Given the description of an element on the screen output the (x, y) to click on. 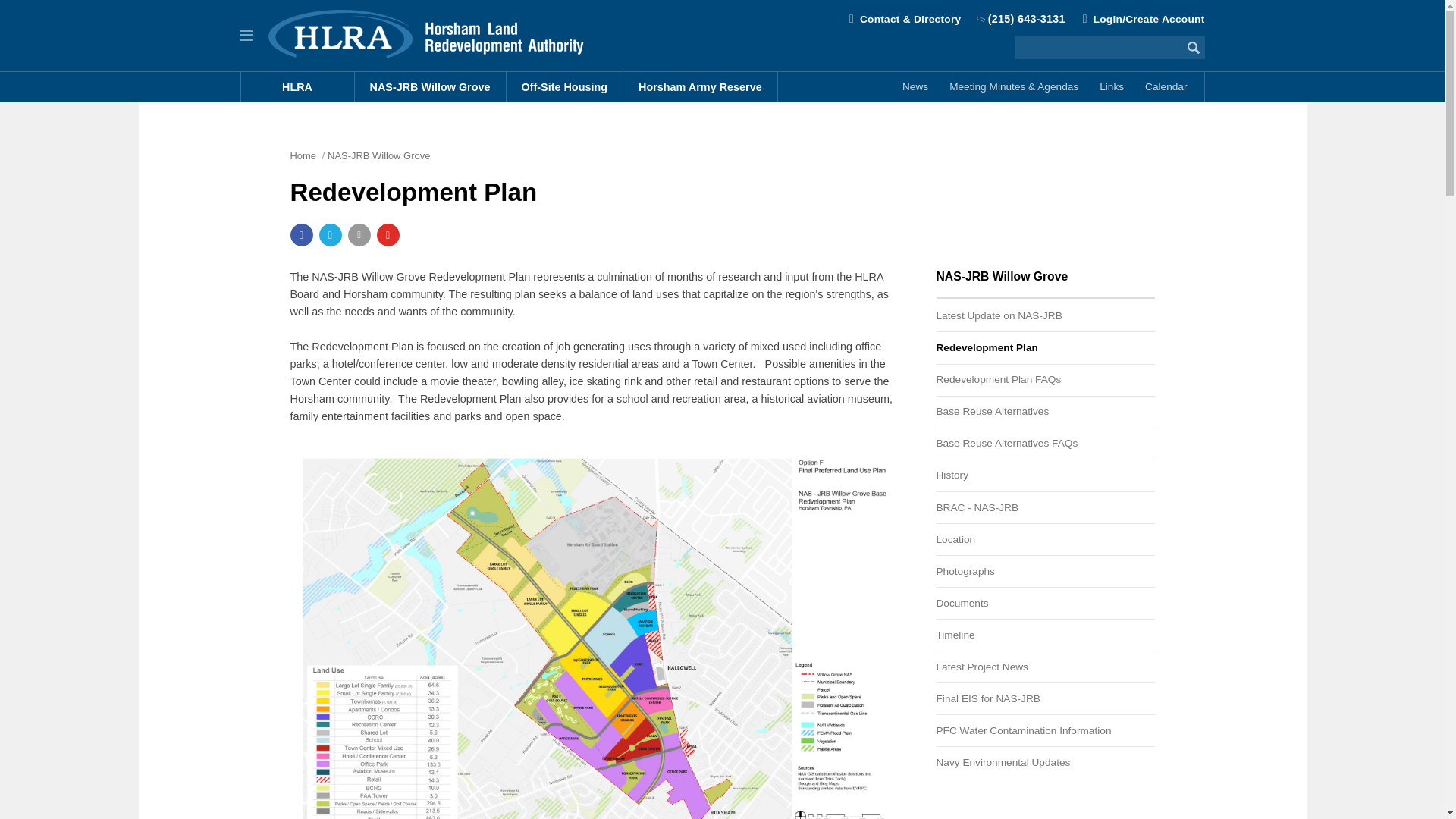
NAS-JRB Willow Grove (430, 87)
Off-Site Housing (565, 87)
HLRA (298, 87)
Back to the Home Page (431, 33)
